Given the description of an element on the screen output the (x, y) to click on. 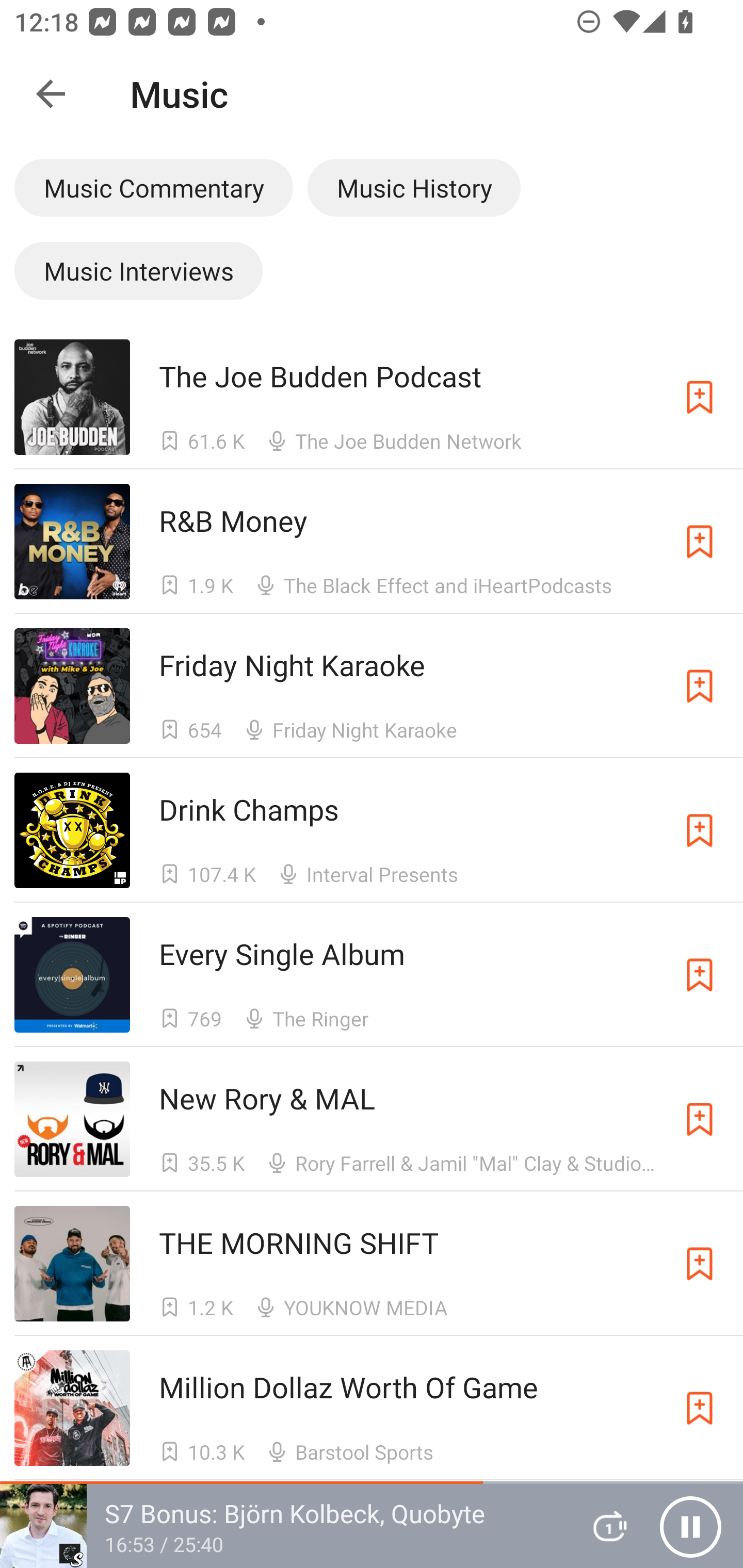
Navigate up (50, 93)
Music Commentary (153, 187)
Music History (413, 187)
Music Interviews (138, 270)
Subscribe (699, 396)
Subscribe (699, 541)
Subscribe (699, 685)
Subscribe (699, 830)
Subscribe (699, 975)
Subscribe (699, 1119)
Subscribe (699, 1263)
Subscribe (699, 1408)
S7 Bonus: Björn Kolbeck, Quobyte 16:53 / 25:40 (283, 1525)
Pause (690, 1526)
